Given the description of an element on the screen output the (x, y) to click on. 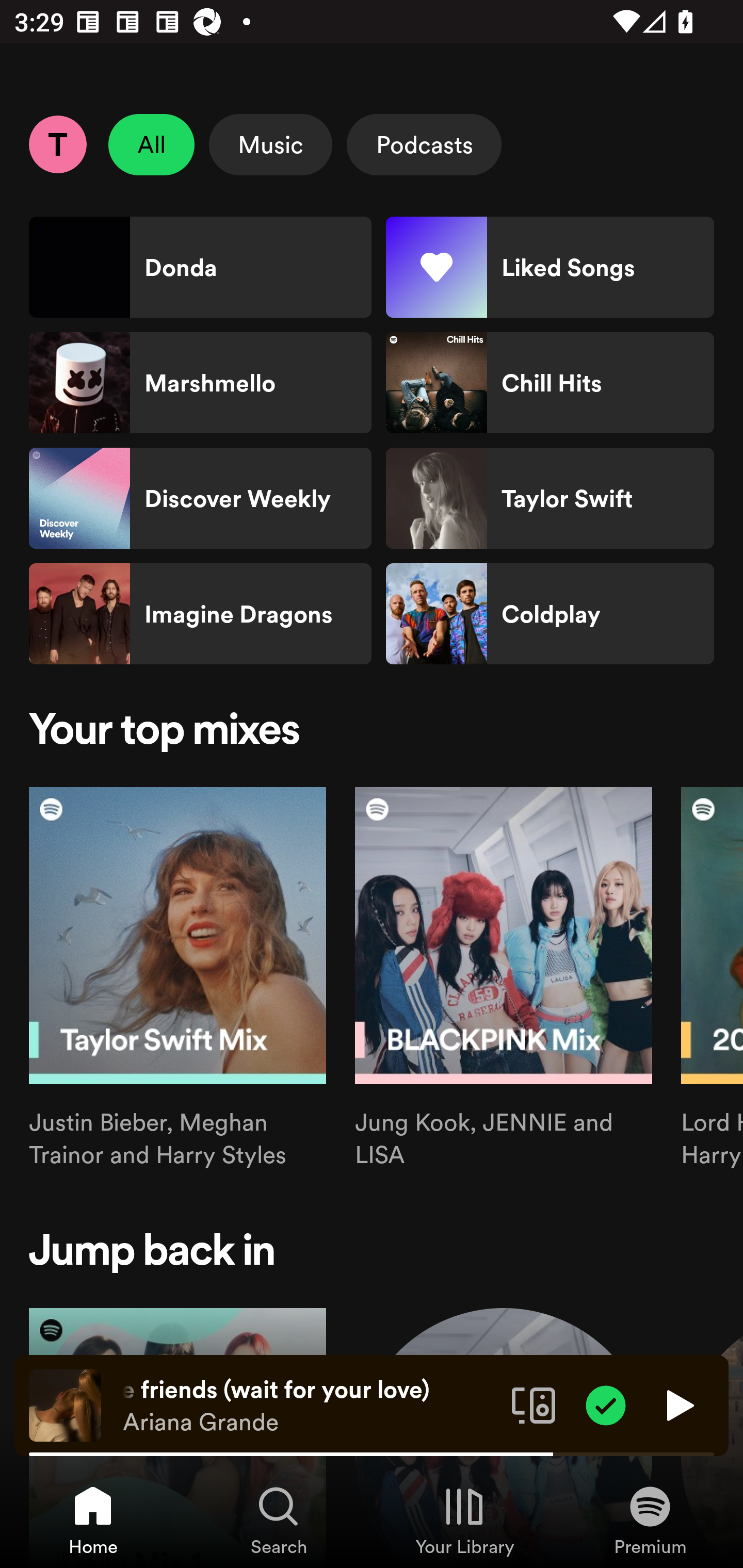
Profile (57, 144)
All Unselect All (151, 144)
Music Select Music (270, 144)
Podcasts Select Podcasts (423, 144)
Donda Shortcut Donda (199, 267)
Liked Songs Shortcut Liked Songs (549, 267)
Marshmello Shortcut Marshmello (199, 382)
Chill Hits Shortcut Chill Hits (549, 382)
Discover Weekly Shortcut Discover Weekly (199, 498)
Taylor Swift Shortcut Taylor Swift (549, 498)
Imagine Dragons Shortcut Imagine Dragons (199, 613)
Coldplay Shortcut Coldplay (549, 613)
The cover art of the currently playing track (64, 1404)
Connect to a device. Opens the devices menu (533, 1404)
Item added (605, 1404)
Play (677, 1404)
